Given the description of an element on the screen output the (x, y) to click on. 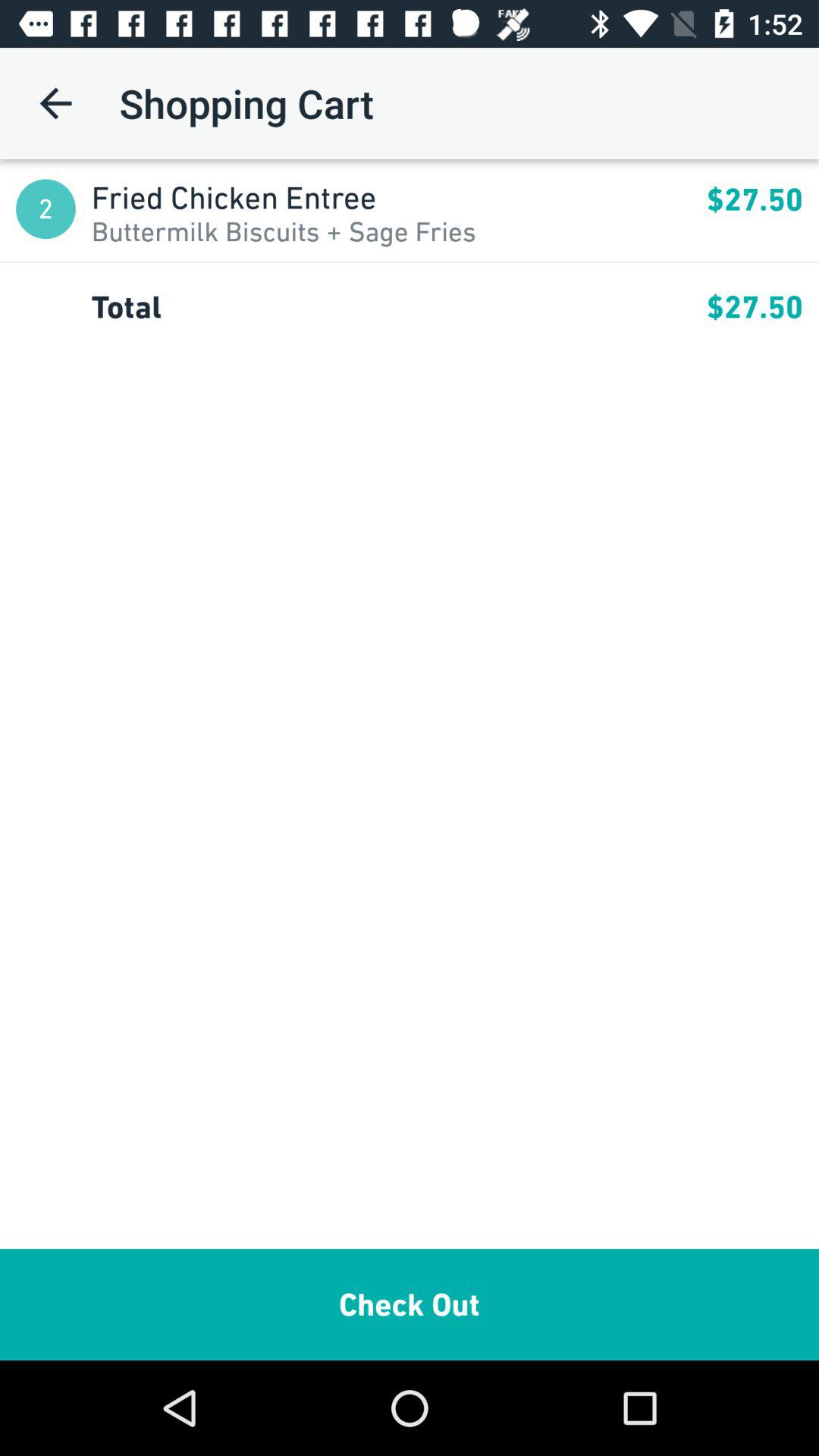
flip to the total app (398, 306)
